Given the description of an element on the screen output the (x, y) to click on. 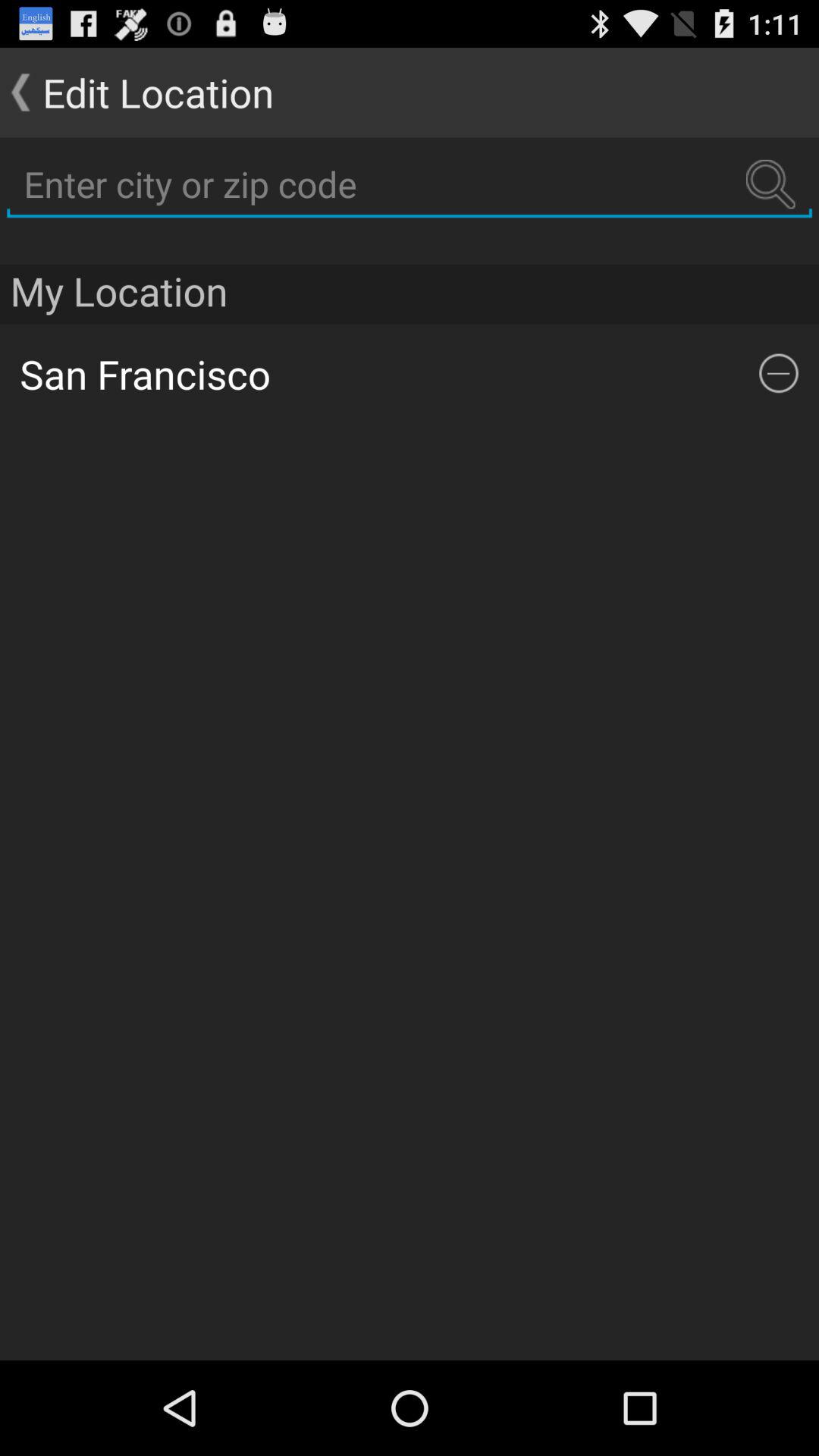
open the icon at the top left corner (137, 91)
